Given the description of an element on the screen output the (x, y) to click on. 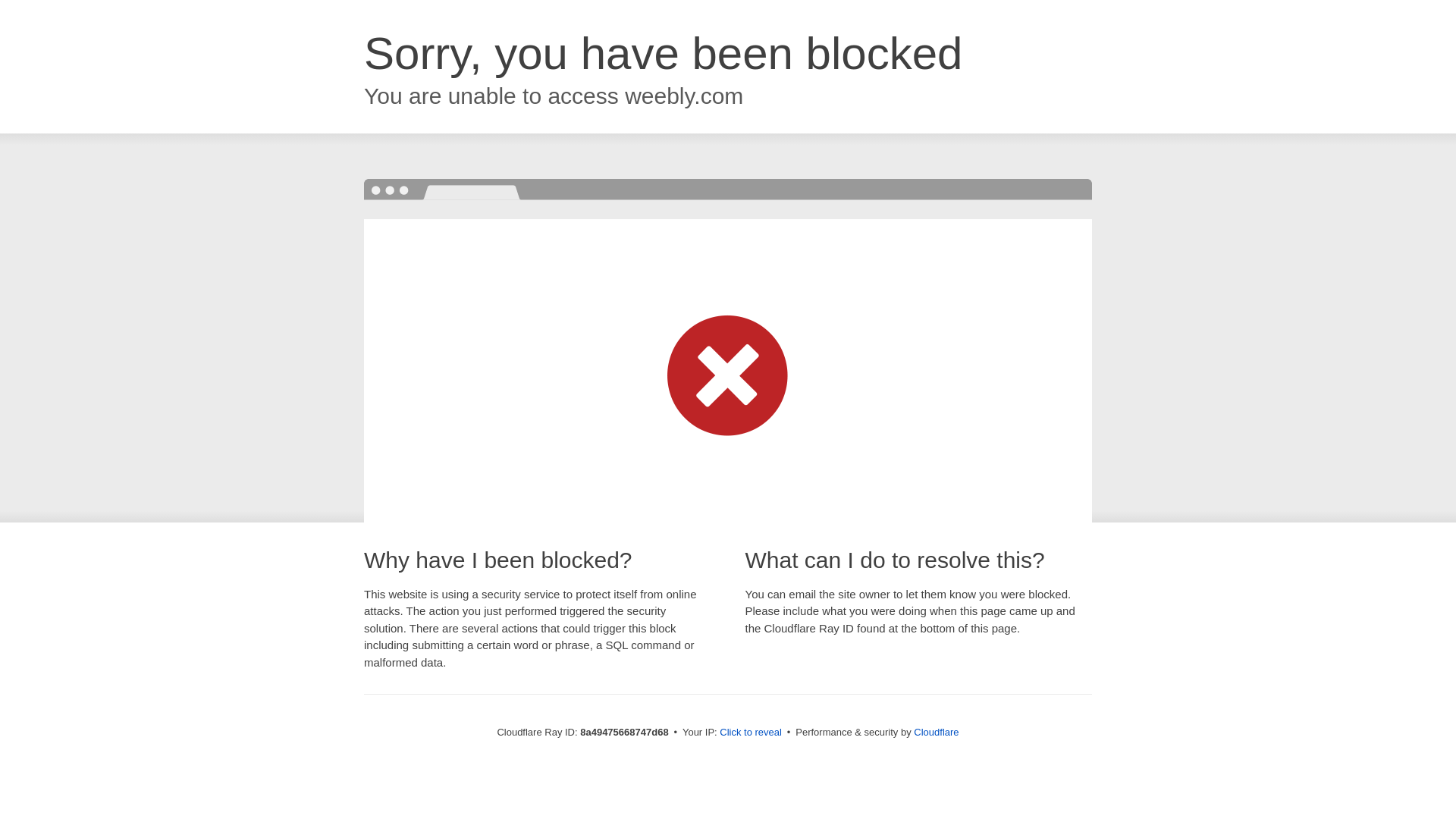
Cloudflare (936, 731)
Click to reveal (750, 732)
